Given the description of an element on the screen output the (x, y) to click on. 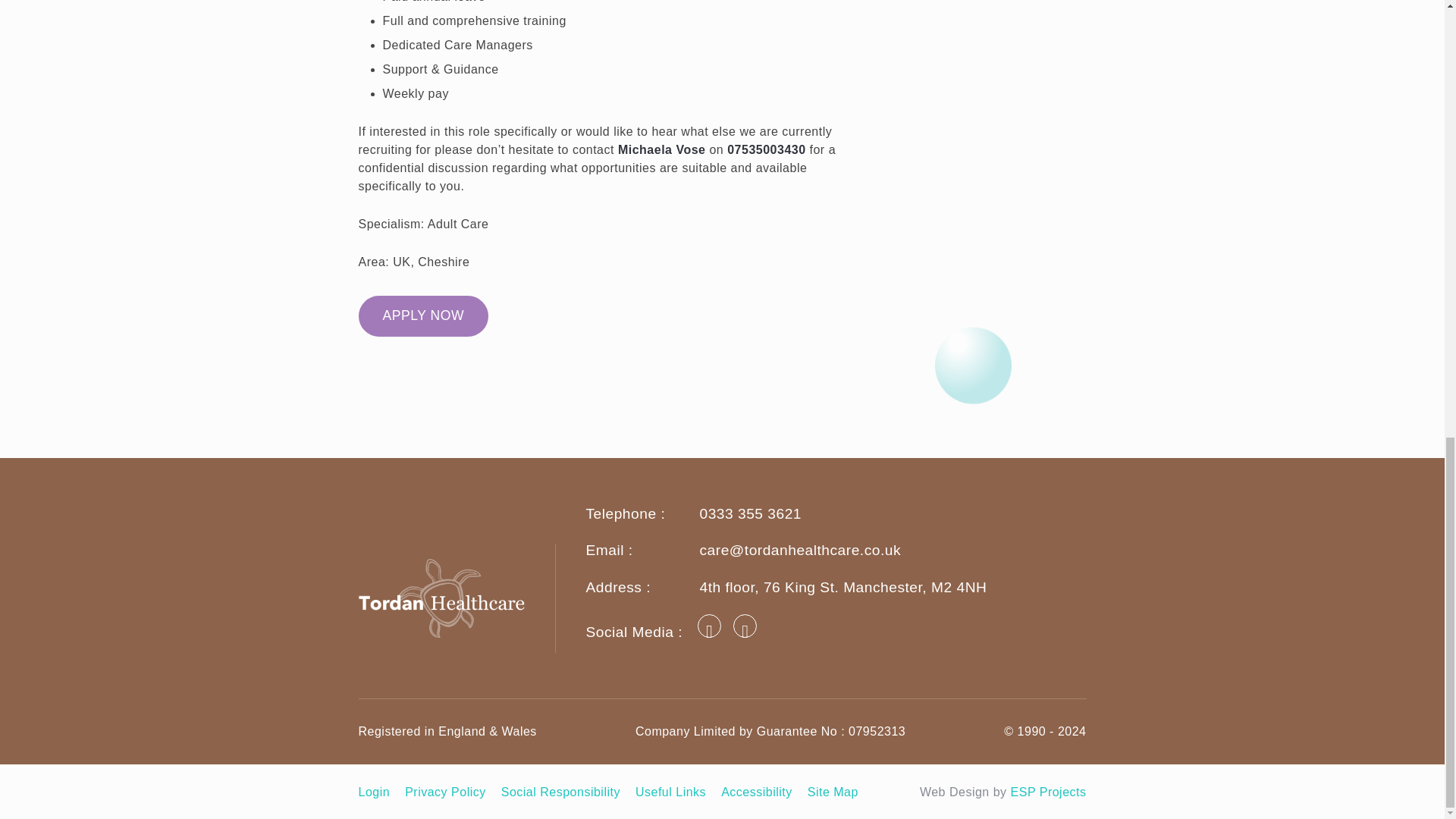
Tordan Healthcare Logo (456, 598)
APPLY NOW (422, 315)
